Given the description of an element on the screen output the (x, y) to click on. 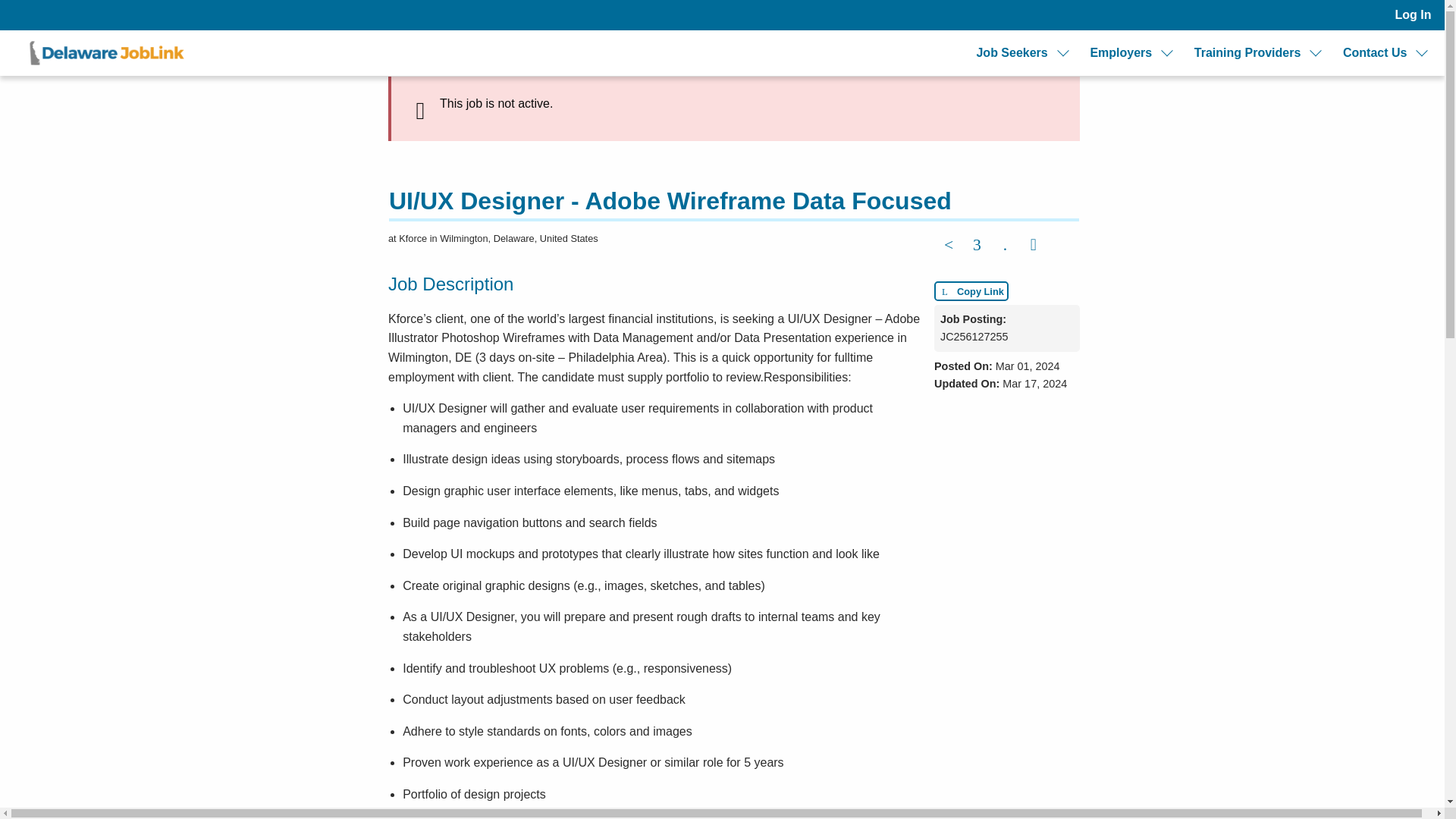
Email this Job (1033, 245)
Log In (1412, 15)
Share this Job on LinkedIn (1004, 245)
Share this Job on Facebook (948, 245)
Share this Job on Twitter (976, 245)
Employers (1120, 53)
Contact Us (1374, 53)
Training Providers (1246, 53)
Job Seekers (1010, 53)
Copy Link (971, 291)
